Given the description of an element on the screen output the (x, y) to click on. 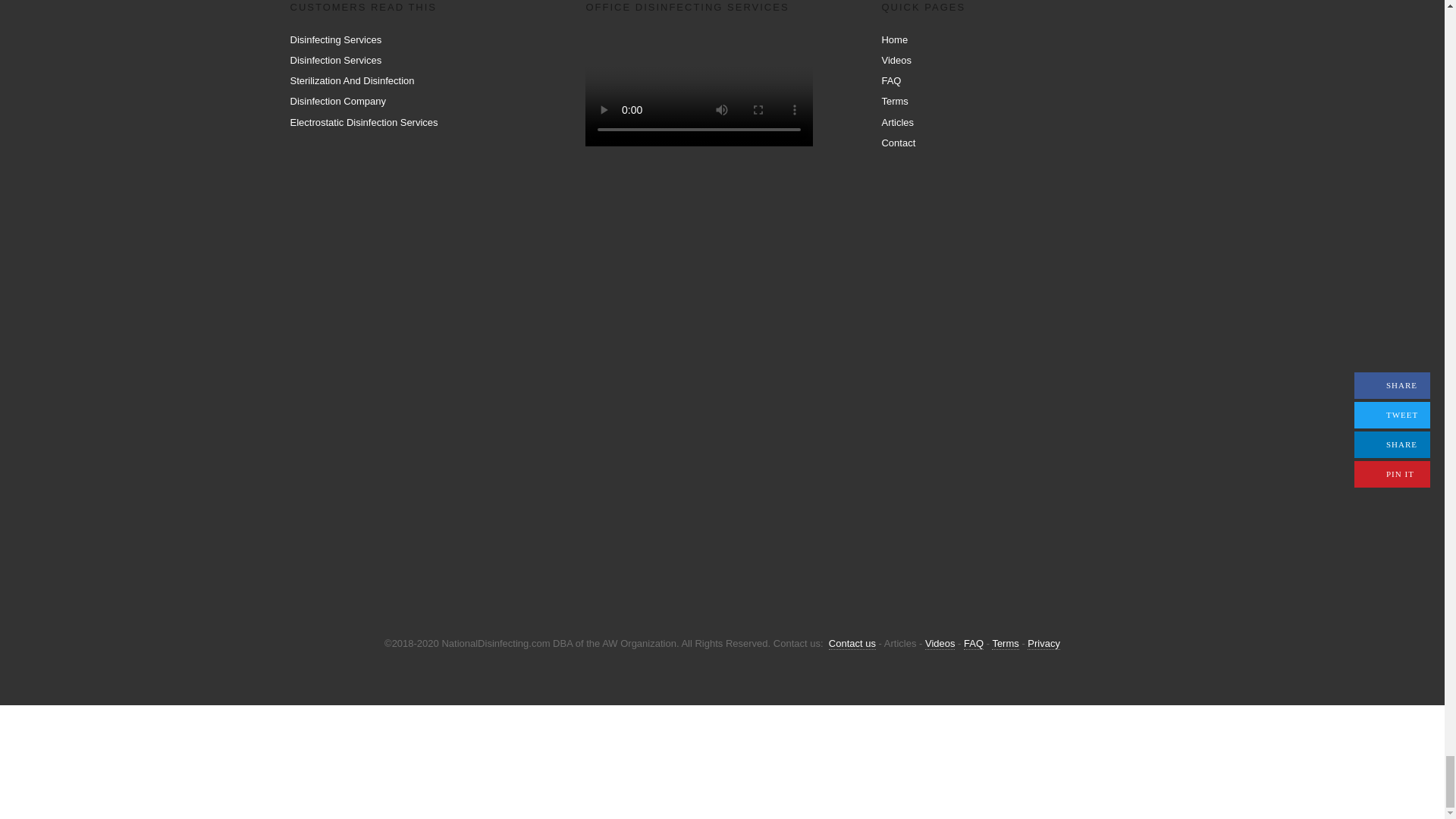
Disinfecting Services (335, 39)
Home (893, 39)
Disinfection Company (337, 101)
Sterilization And Disinfection (351, 80)
Electrostatic Disinfection Services (363, 122)
Disinfection Services (335, 60)
